Given the description of an element on the screen output the (x, y) to click on. 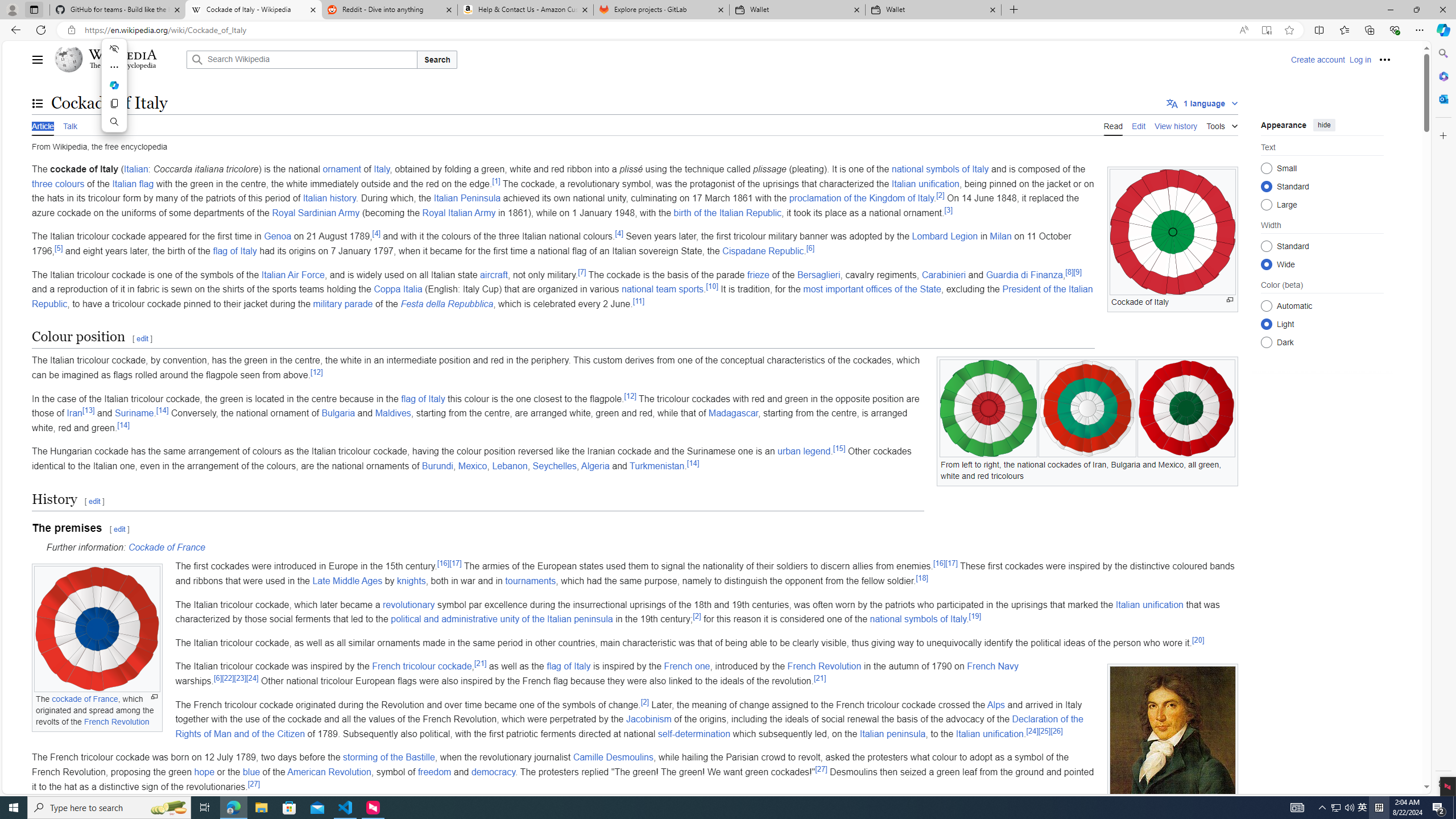
national team sports (662, 289)
[7] (582, 271)
Mini menu on text selection (113, 84)
hide (1324, 124)
Lebanon (509, 466)
[13] (87, 409)
Burundi (436, 466)
three colours (58, 183)
The Free Encyclopedia (121, 65)
birth of the Italian Republic (726, 212)
